Given the description of an element on the screen output the (x, y) to click on. 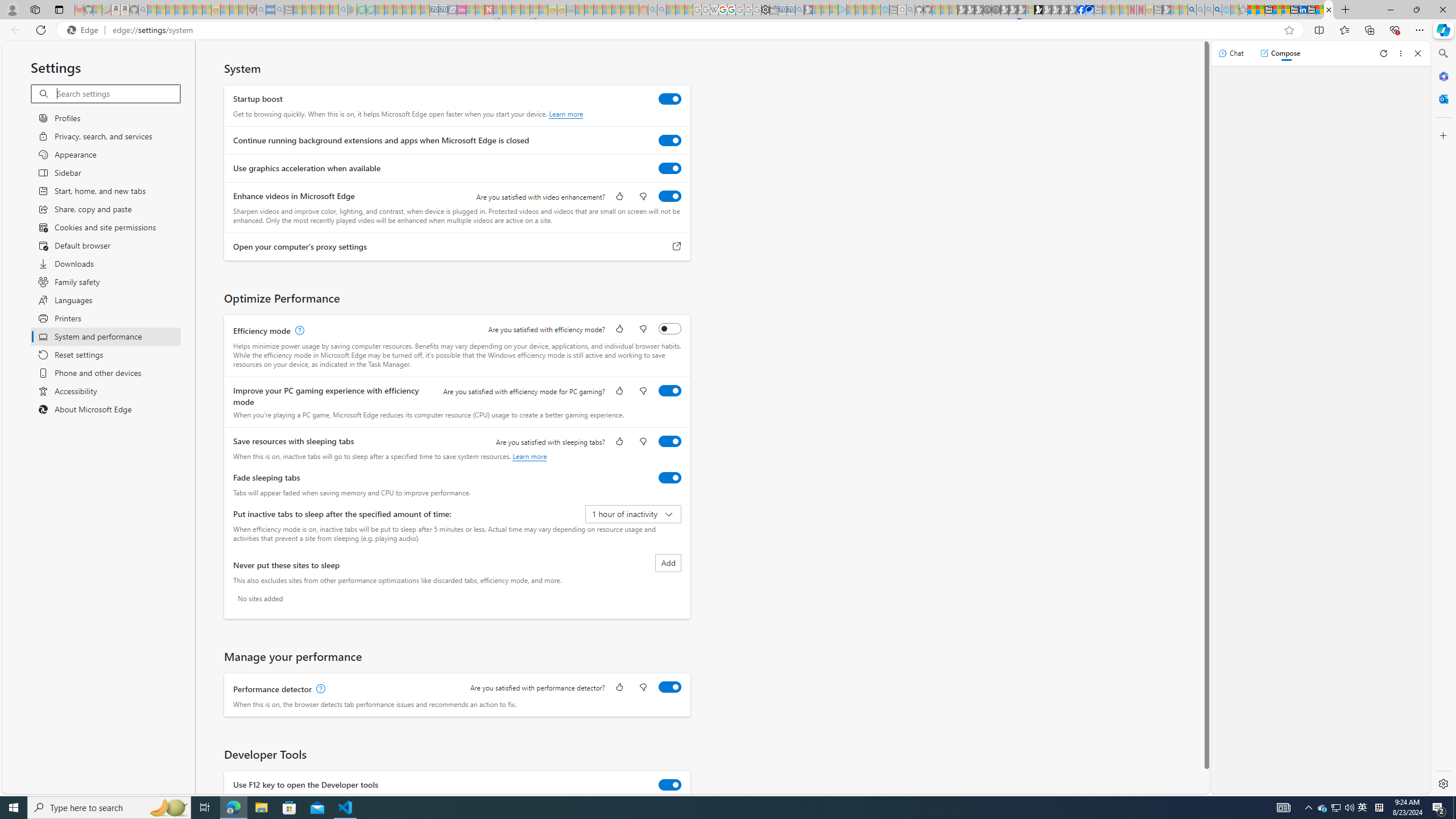
Performance detector (669, 686)
Improve your PC gaming experience with efficiency mode (669, 390)
Favorites - Sleeping (1243, 9)
Pets - MSN - Sleeping (324, 9)
